Given the description of an element on the screen output the (x, y) to click on. 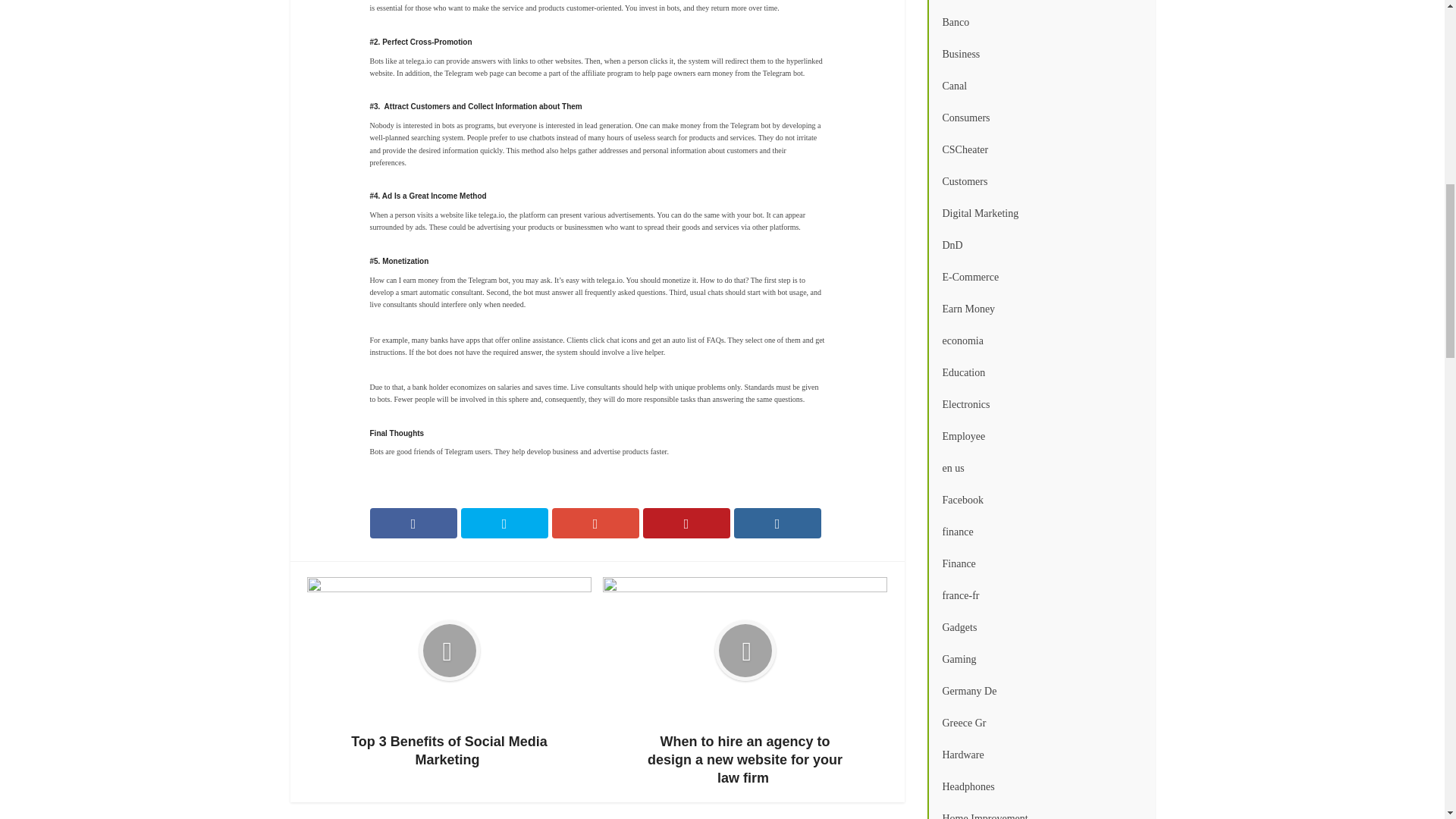
Top 3 Benefits of Social Media Marketing  (449, 673)
Banca (1040, 3)
